Given the description of an element on the screen output the (x, y) to click on. 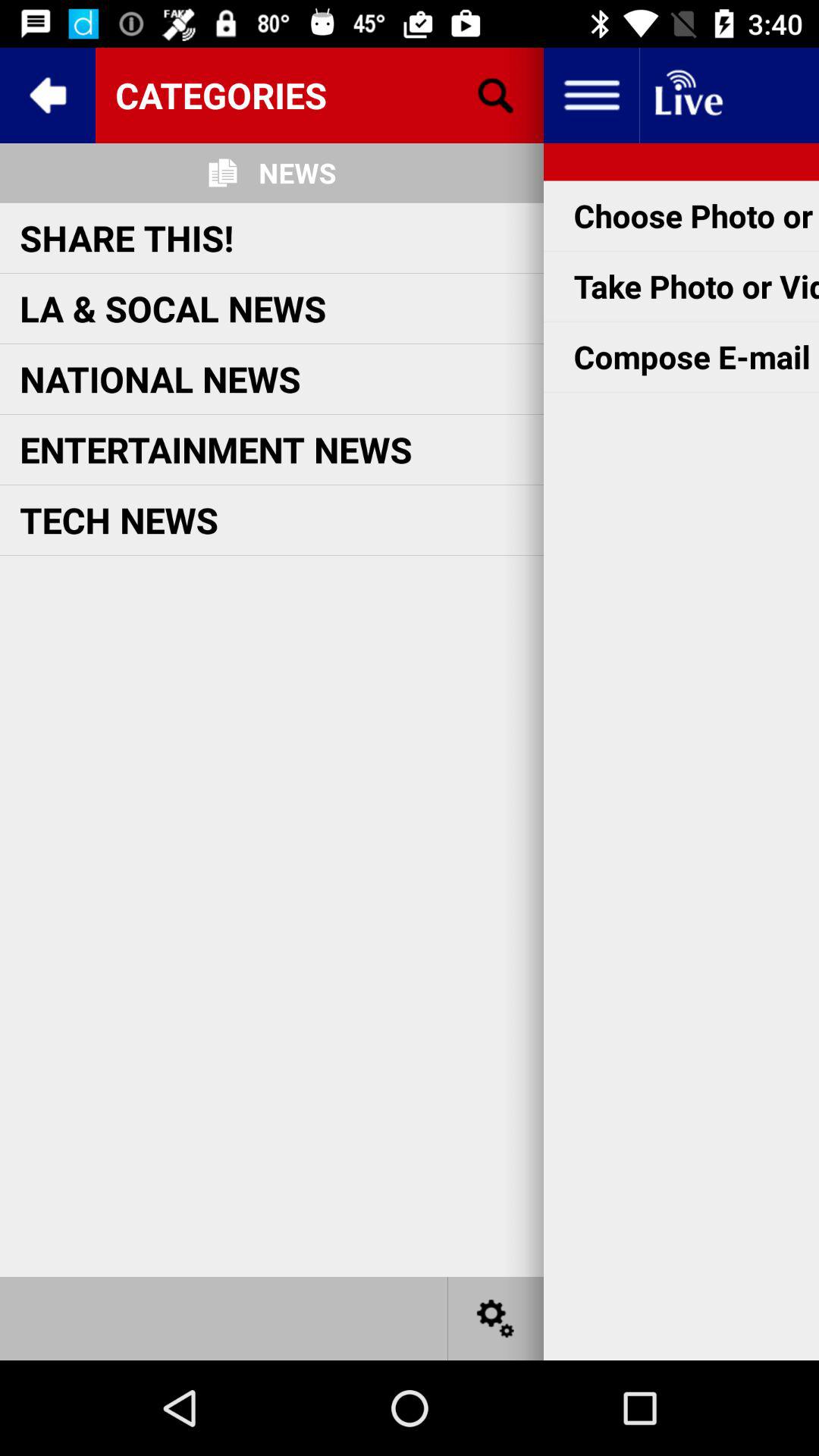
jump until categories item (319, 95)
